Given the description of an element on the screen output the (x, y) to click on. 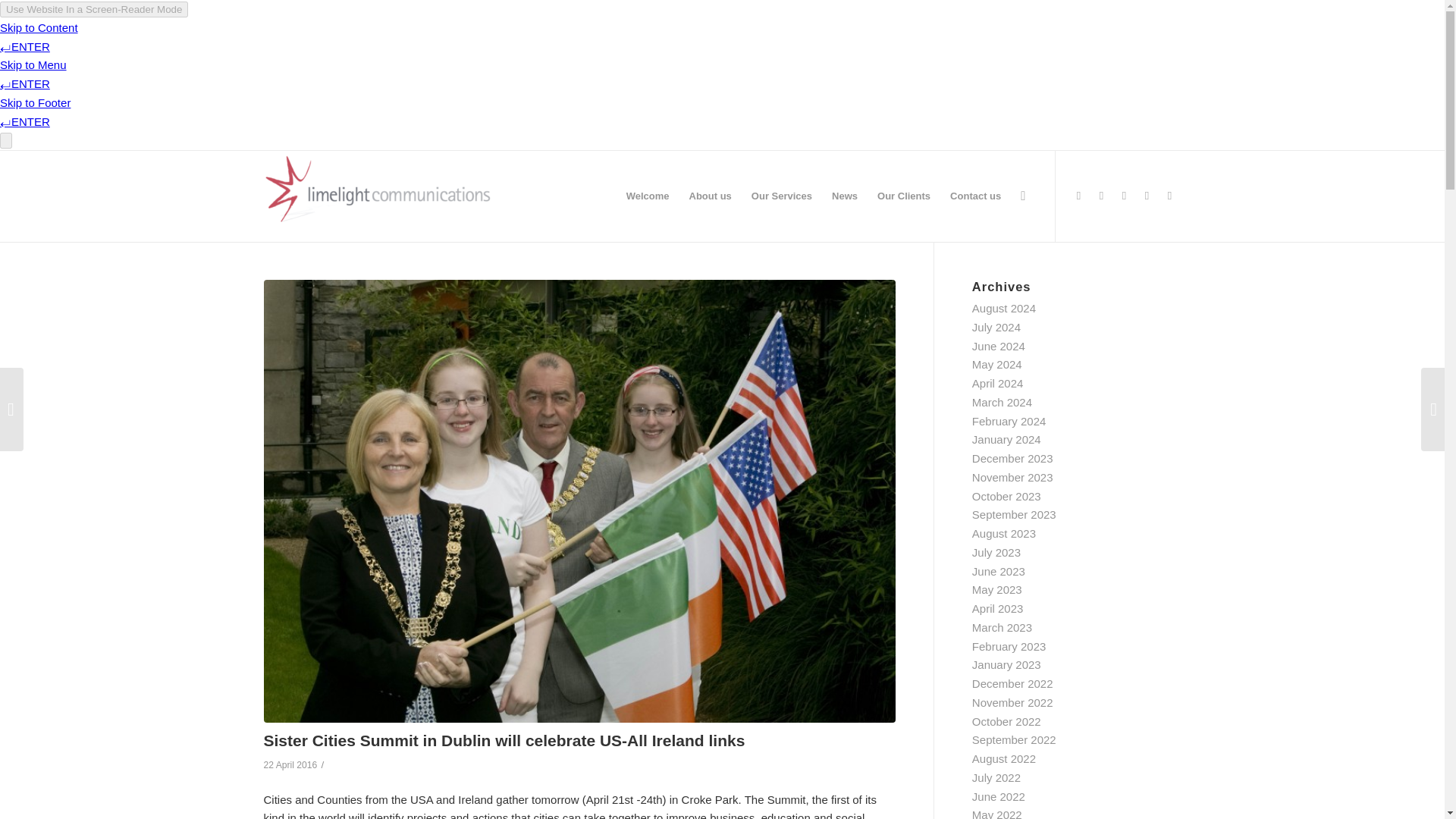
Facebook (1101, 195)
Twitter (1078, 195)
LinkedIn (1169, 195)
Youtube (1146, 195)
Instagram (1124, 195)
